Given the description of an element on the screen output the (x, y) to click on. 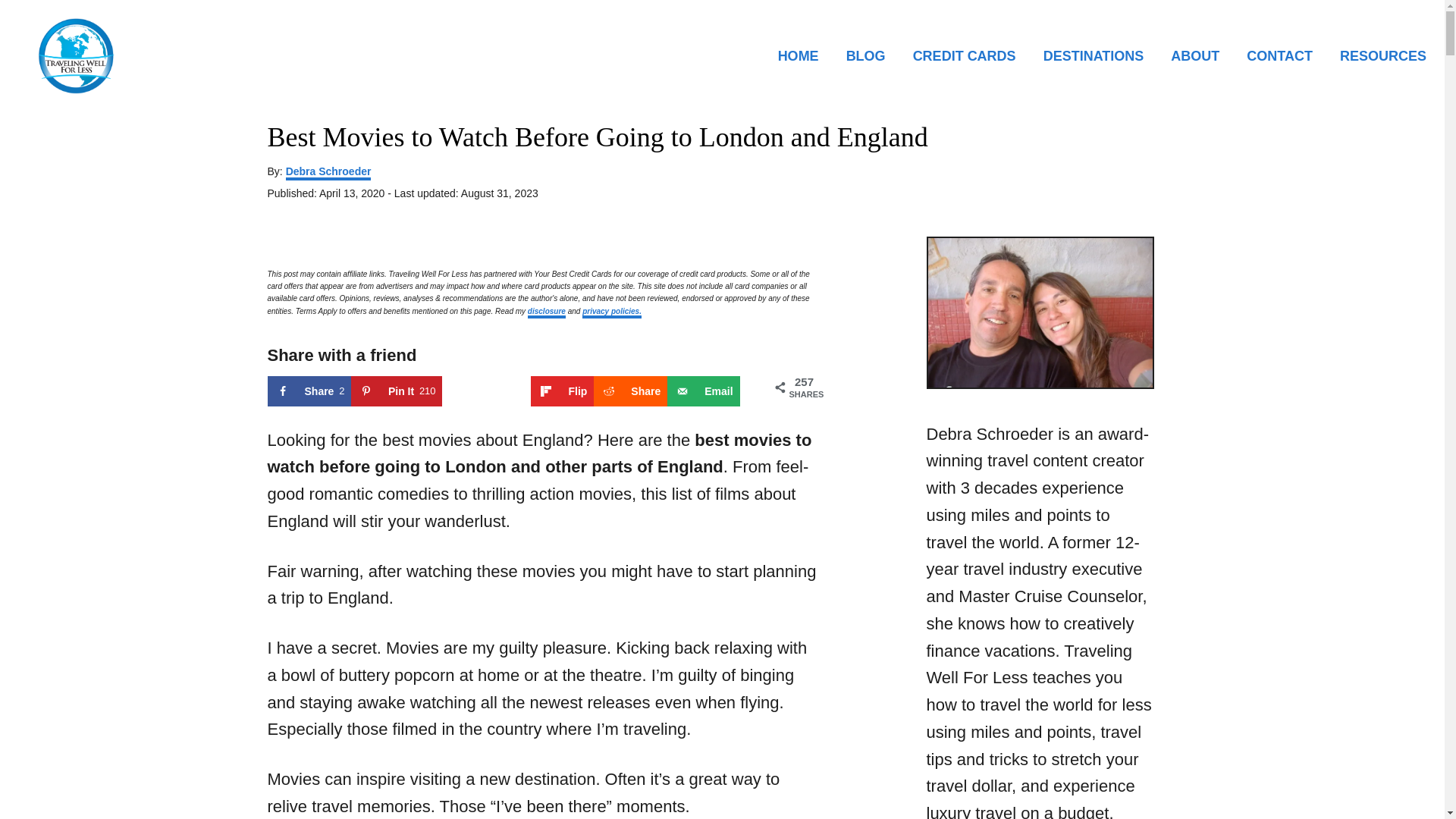
Share on X (486, 390)
RESOURCES (1378, 55)
Debra Schroeder (328, 172)
HOME (802, 55)
ABOUT (1199, 55)
BLOG (870, 55)
Traveling Well For Less (202, 56)
Email (702, 390)
Share on Reddit (630, 390)
Flip (562, 390)
